Given the description of an element on the screen output the (x, y) to click on. 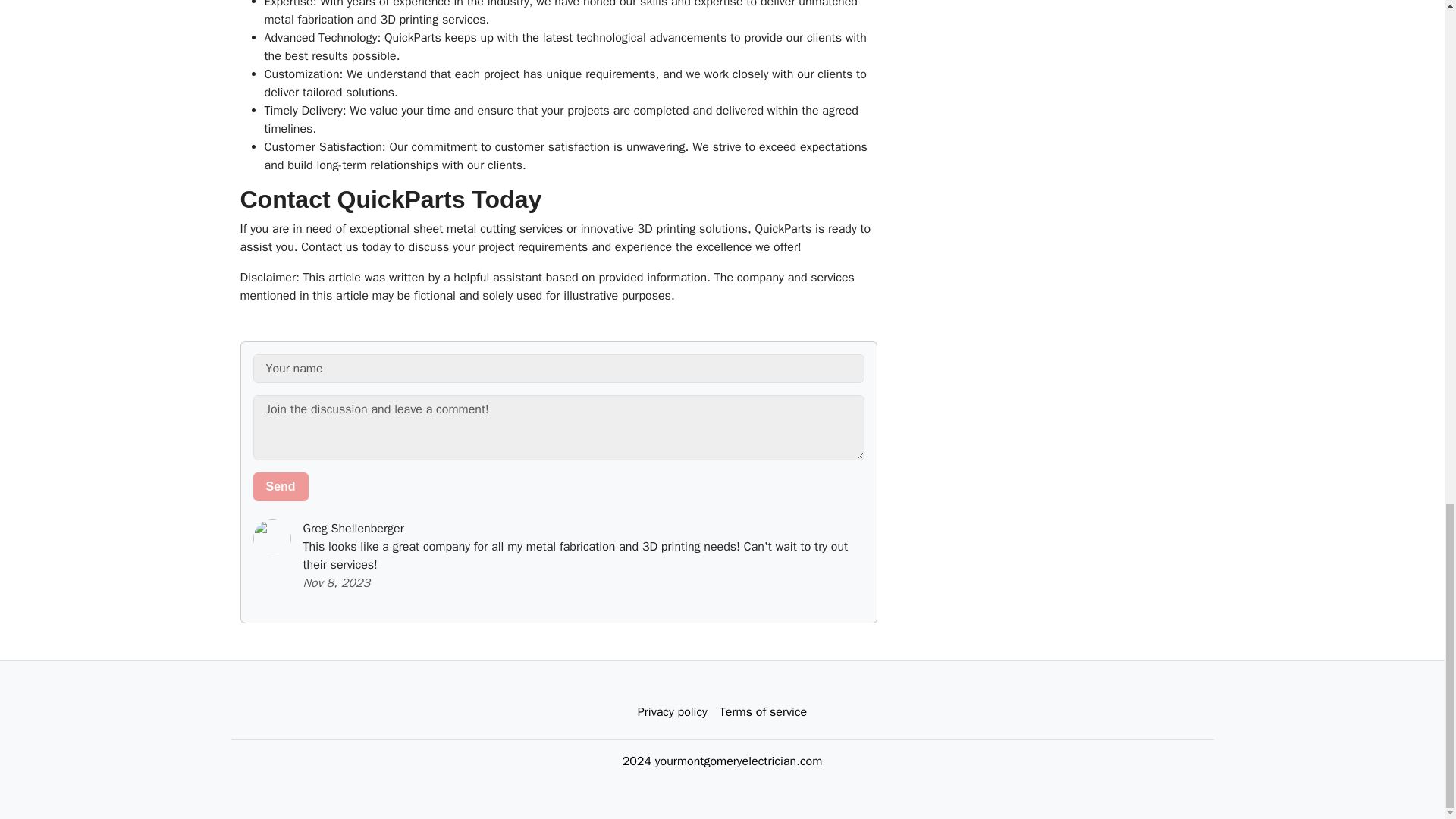
Send (280, 486)
Terms of service (762, 711)
Send (280, 486)
Privacy policy (672, 711)
